Given the description of an element on the screen output the (x, y) to click on. 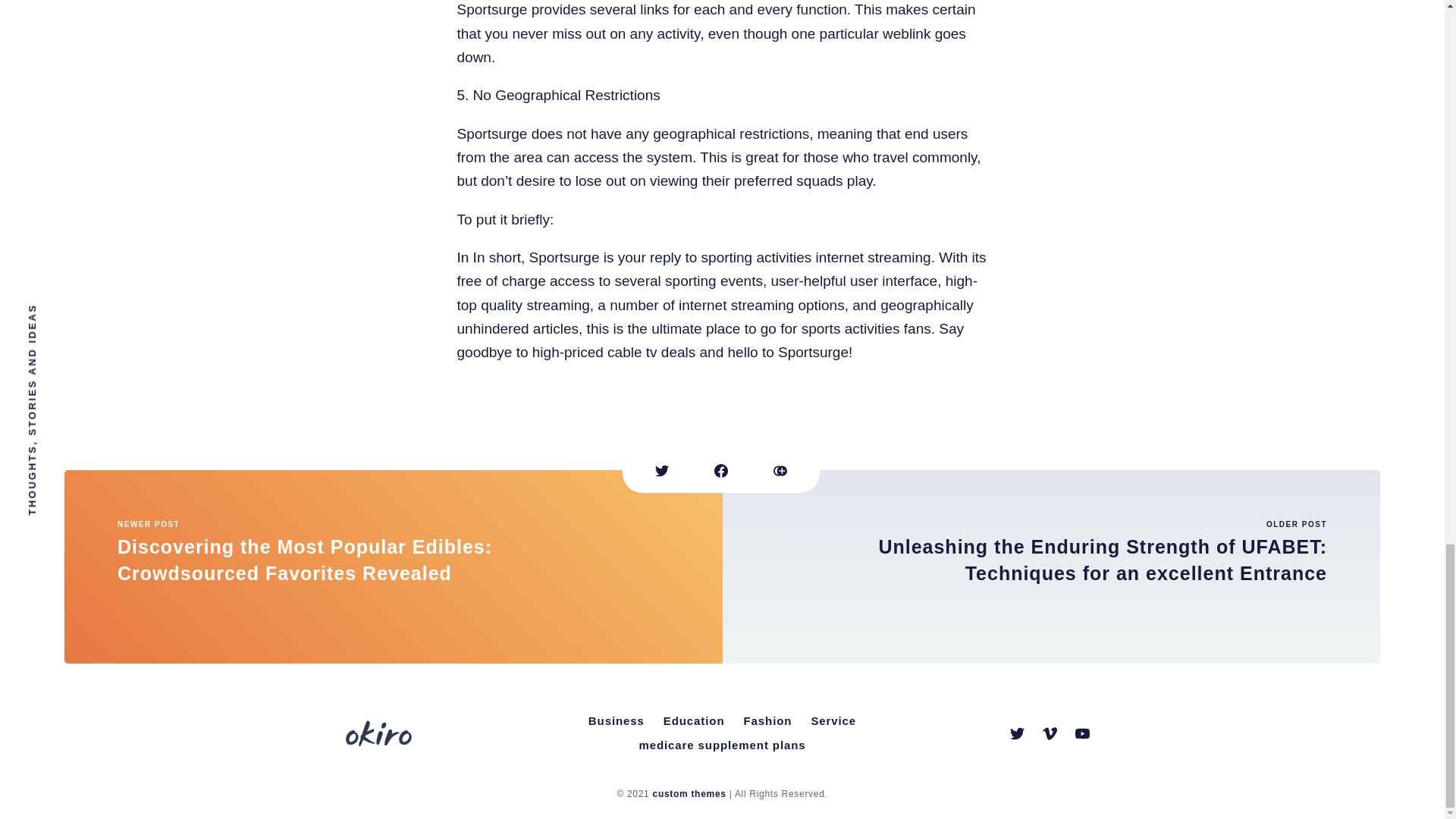
Education (694, 721)
Business (616, 721)
medicare supplement plans (721, 745)
custom themes (689, 793)
Service (833, 721)
Fashion (767, 721)
